Given the description of an element on the screen output the (x, y) to click on. 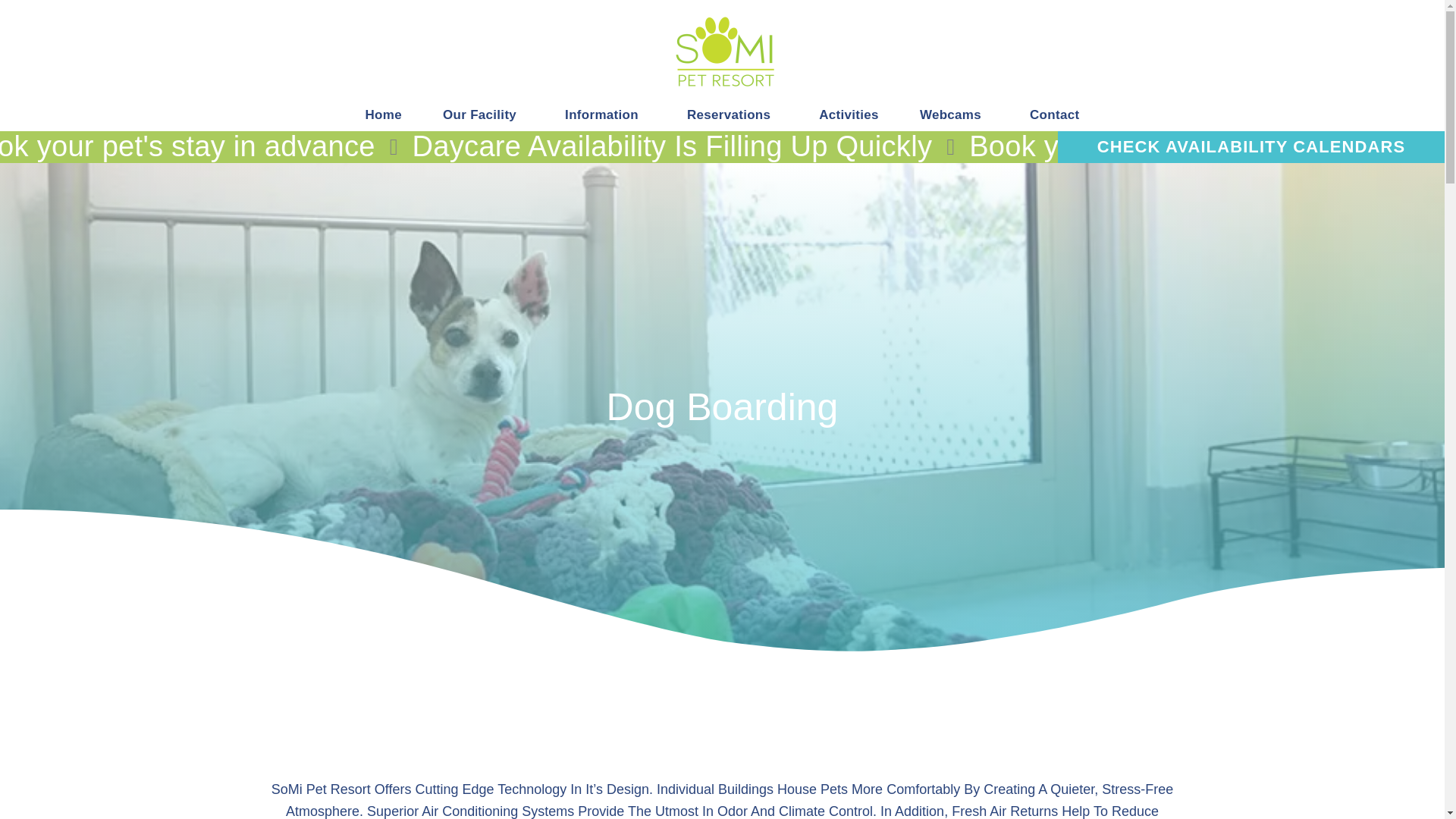
Our Facility (483, 114)
Reservations (731, 114)
Activities (848, 114)
Webcams (954, 114)
Home (383, 114)
Contact (1054, 114)
CHECK AVAILABILITY CALENDARS (1251, 146)
Information (605, 114)
